Given the description of an element on the screen output the (x, y) to click on. 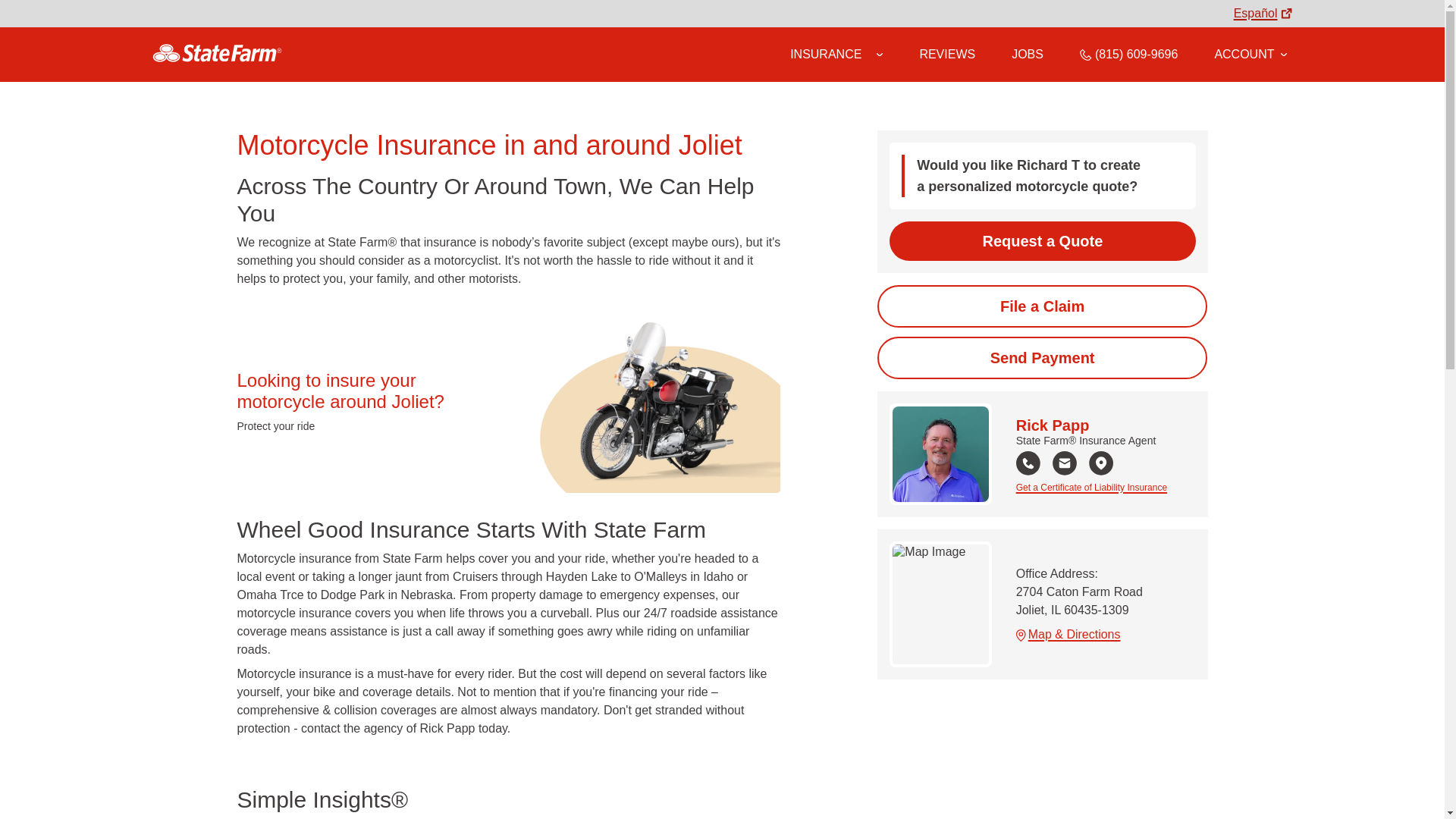
ACCOUNT (1250, 54)
JOBS (1027, 54)
Start the claim process online (1042, 306)
Account Options (1250, 54)
INSURANCE (825, 54)
Insurance (836, 54)
REVIEWS (946, 54)
Request a Quote (1042, 241)
